Given the description of an element on the screen output the (x, y) to click on. 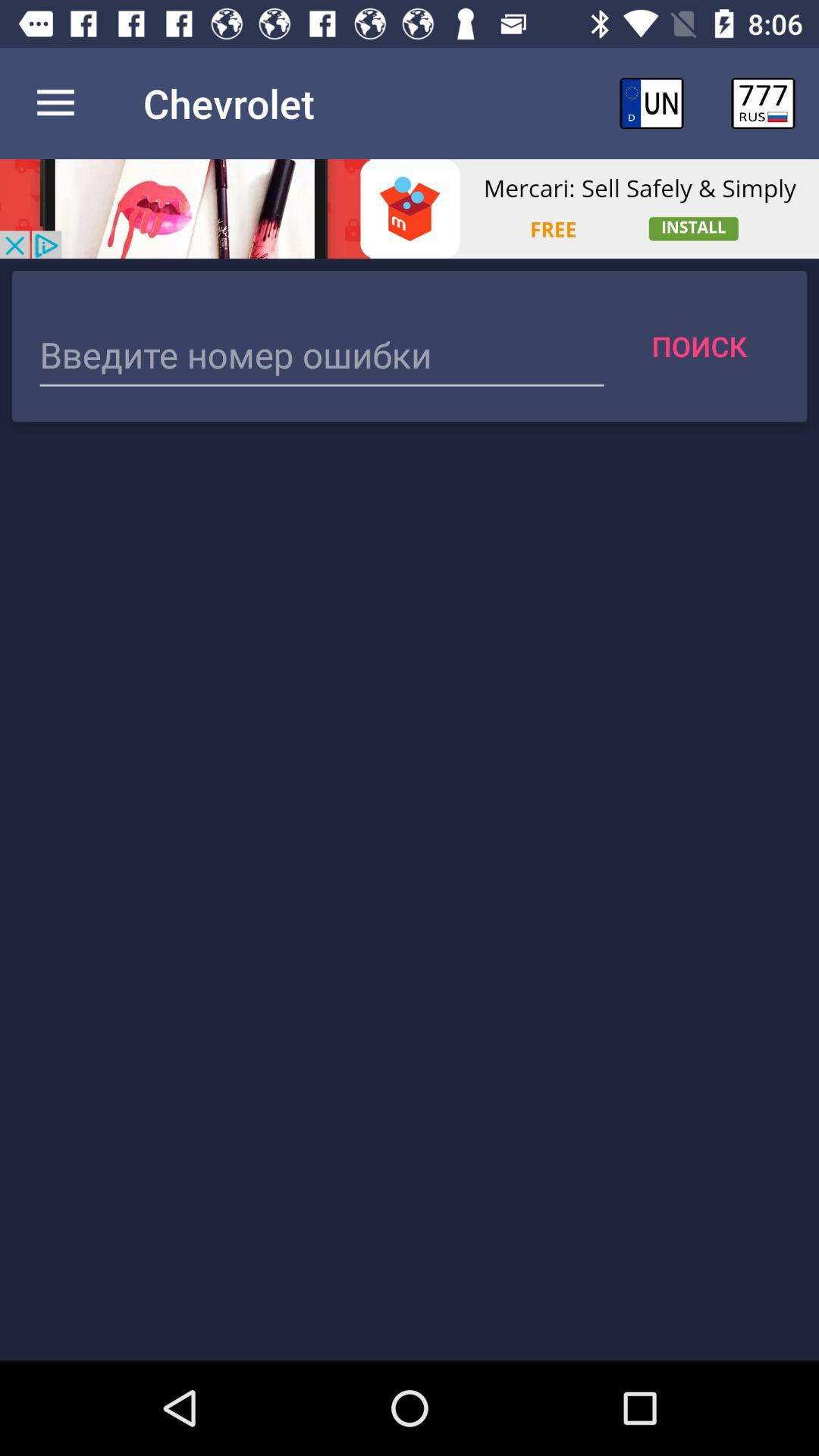
view advertiser (409, 208)
